Given the description of an element on the screen output the (x, y) to click on. 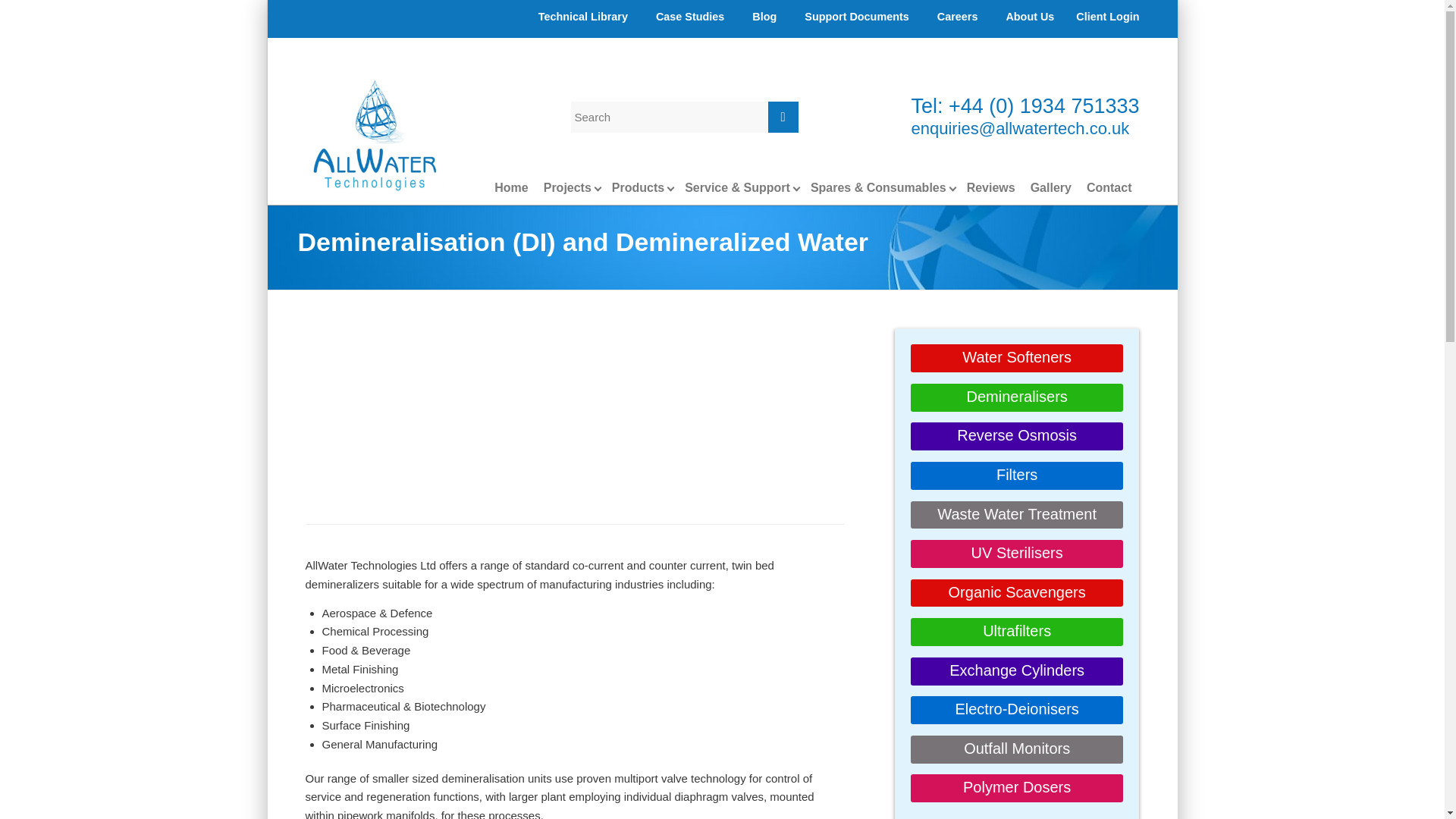
Case Studies (689, 15)
Support Documents (856, 15)
Technical Library (582, 15)
Products (637, 187)
Projects (566, 187)
Blog (764, 15)
Home (510, 187)
